Given the description of an element on the screen output the (x, y) to click on. 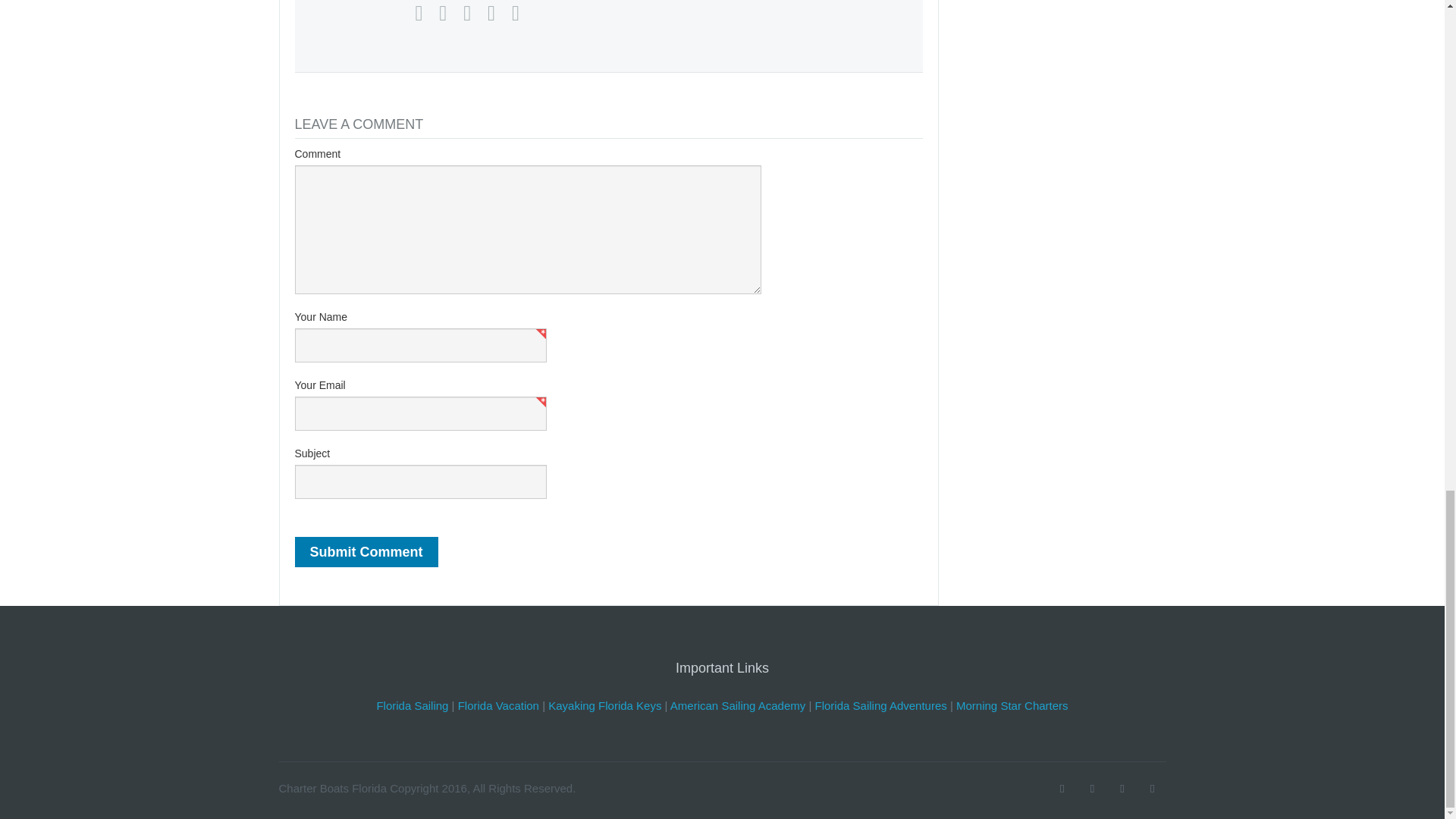
Florida Vacation (498, 705)
Florida Sailing (411, 705)
Kayaking Florida Keys (604, 705)
Submit Comment (366, 552)
American Sailing Academy (737, 705)
Submit Comment (366, 552)
American Sailing Academy (737, 705)
Florida Sailing Adventures (881, 705)
Morning Star Charters (1012, 705)
Morning Star Charters (1012, 705)
